Given the description of an element on the screen output the (x, y) to click on. 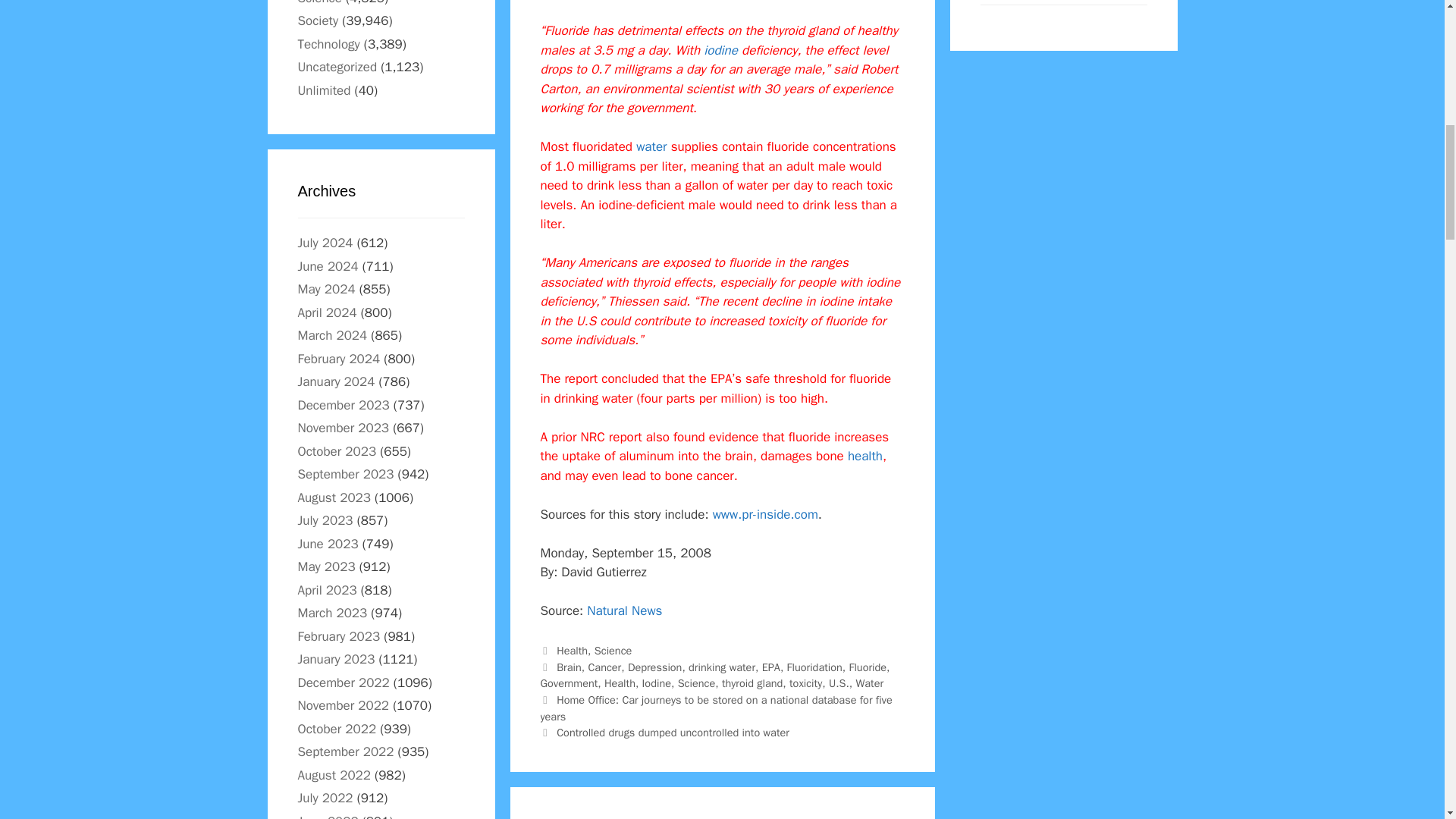
Science (697, 683)
drinking water (721, 667)
iodine (720, 50)
Cancer (604, 667)
Fluoridation (815, 667)
Iodine (656, 683)
www.pr-inside.com (765, 514)
Health (572, 650)
Controlled drugs dumped uncontrolled into water (672, 732)
health (864, 455)
Government (568, 683)
Health (619, 683)
Brain (568, 667)
thyroid gland (752, 683)
